Given the description of an element on the screen output the (x, y) to click on. 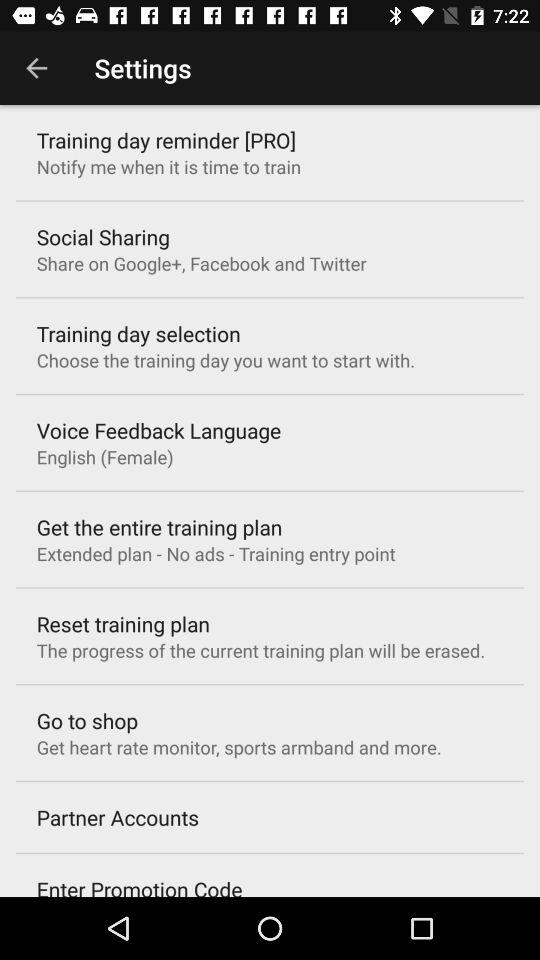
turn on icon below reset training plan item (260, 650)
